Given the description of an element on the screen output the (x, y) to click on. 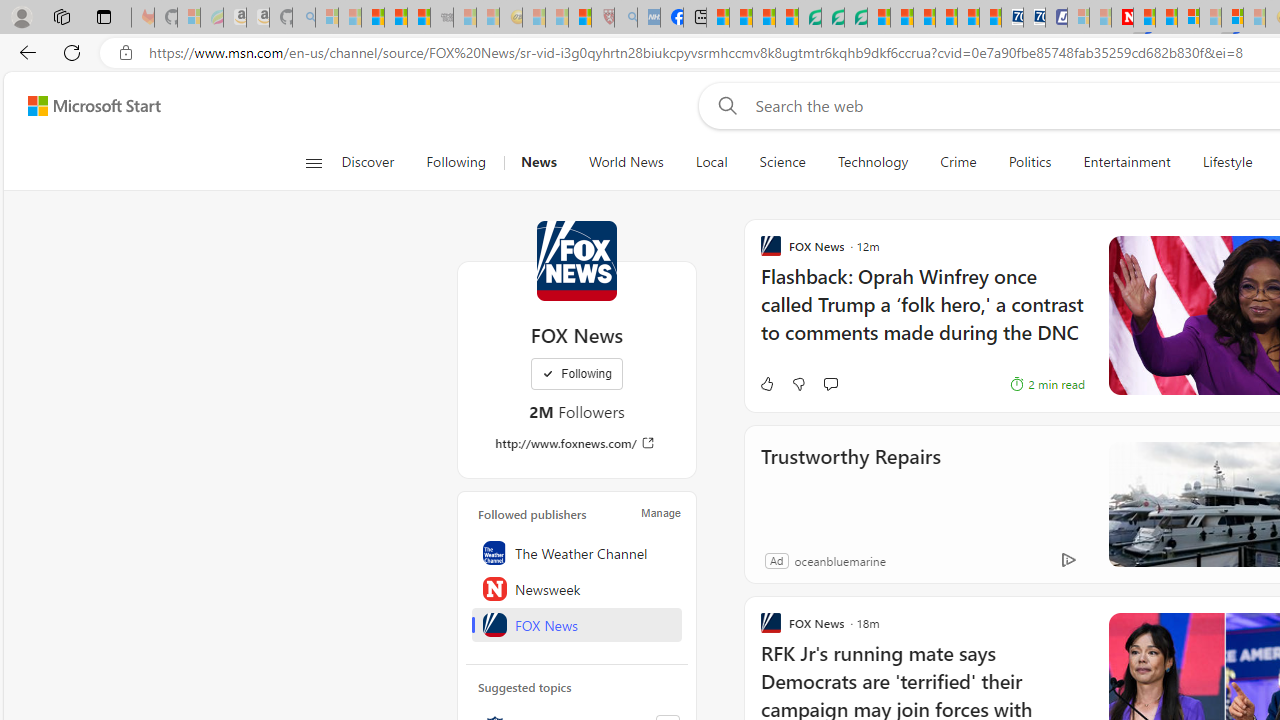
http://www.foxnews.com/ (576, 443)
oceanbluemarine (839, 560)
The Weather Channel (577, 552)
Local - MSN (580, 17)
